Given the description of an element on the screen output the (x, y) to click on. 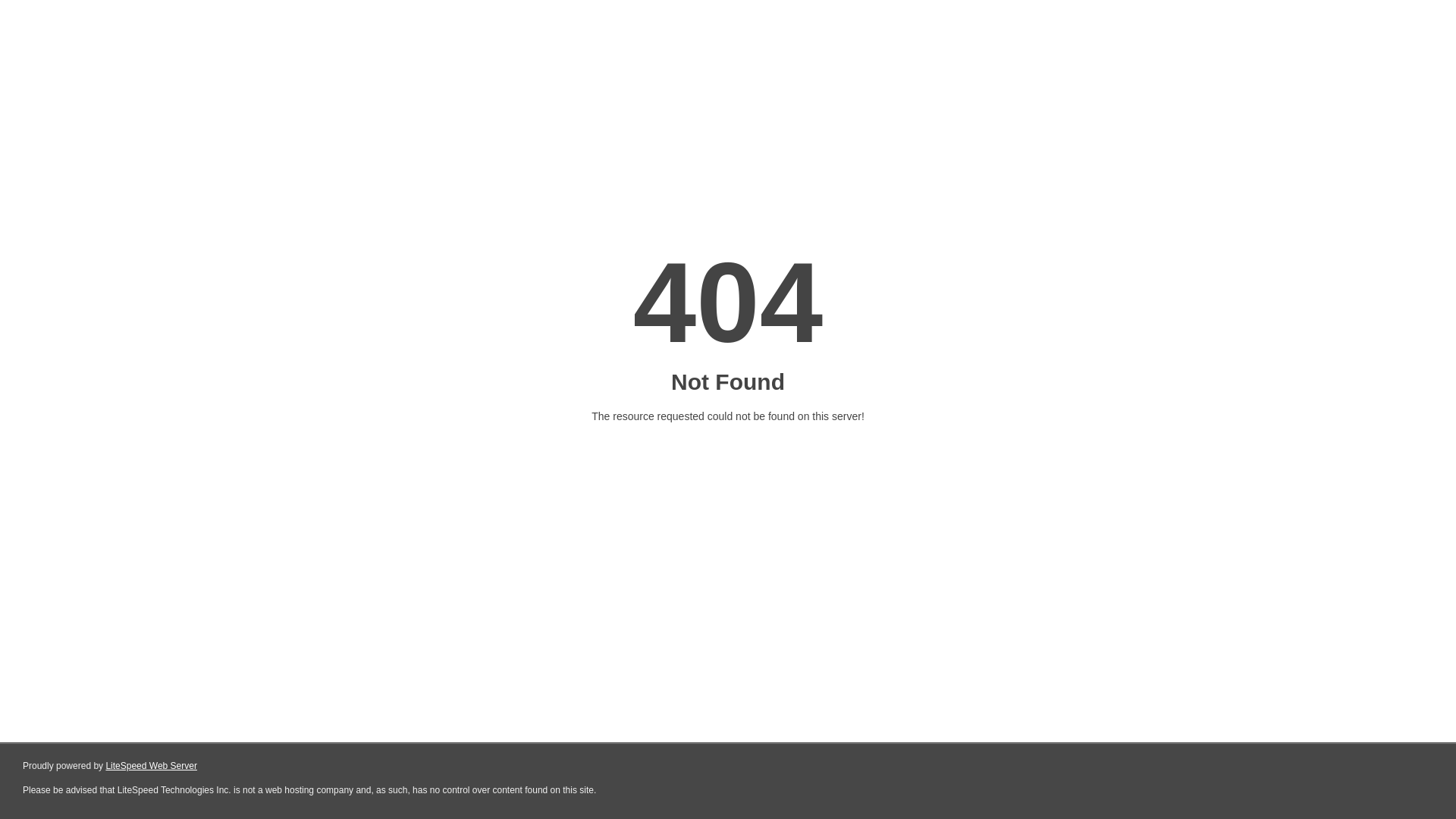
LiteSpeed Web Server Element type: text (151, 765)
